Given the description of an element on the screen output the (x, y) to click on. 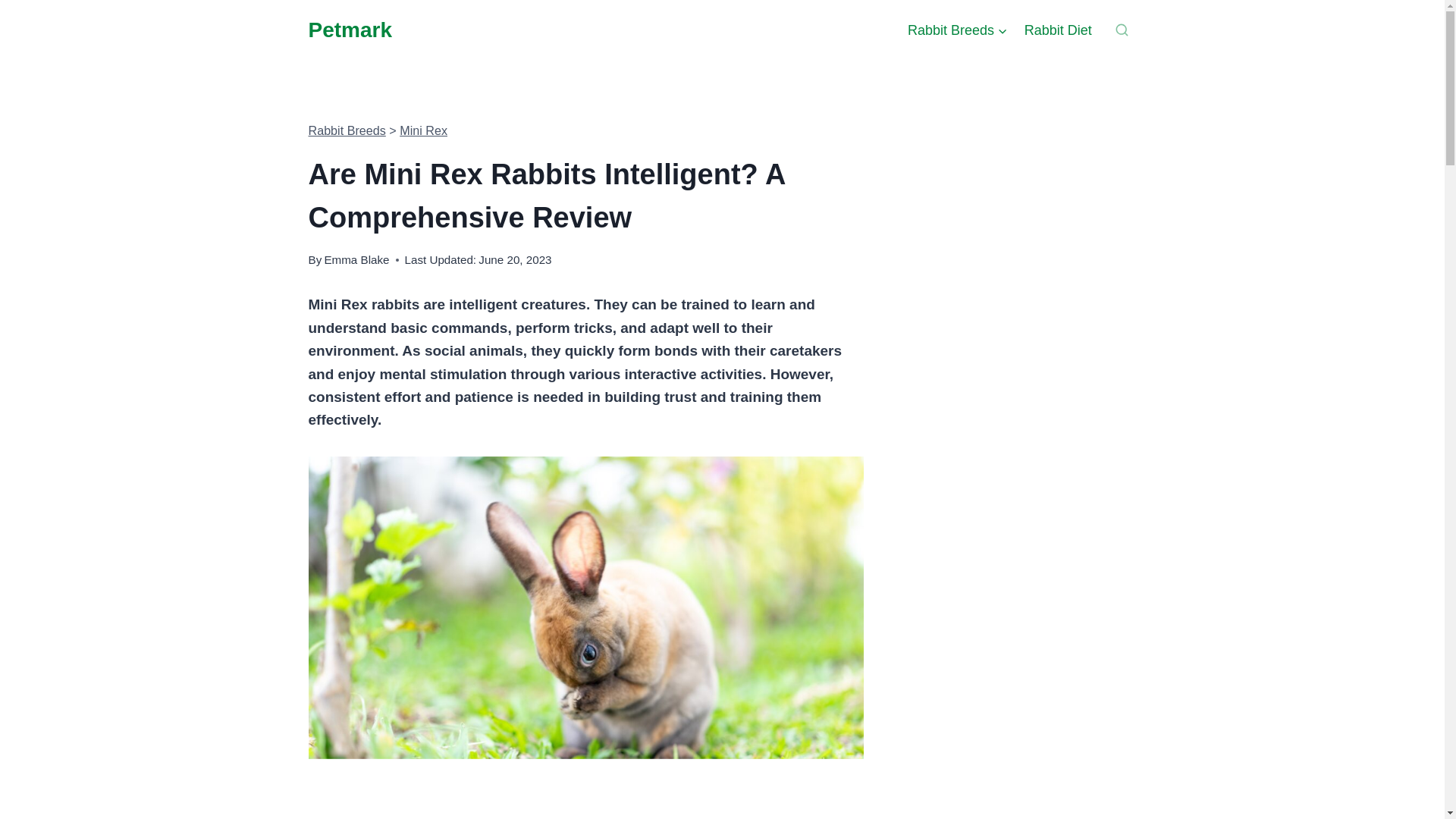
Rabbit Breeds (346, 130)
Mini Rex (422, 130)
Emma Blake (355, 259)
Rabbit Diet (1058, 30)
Rabbit Breeds (957, 30)
Petmark (349, 30)
